Given the description of an element on the screen output the (x, y) to click on. 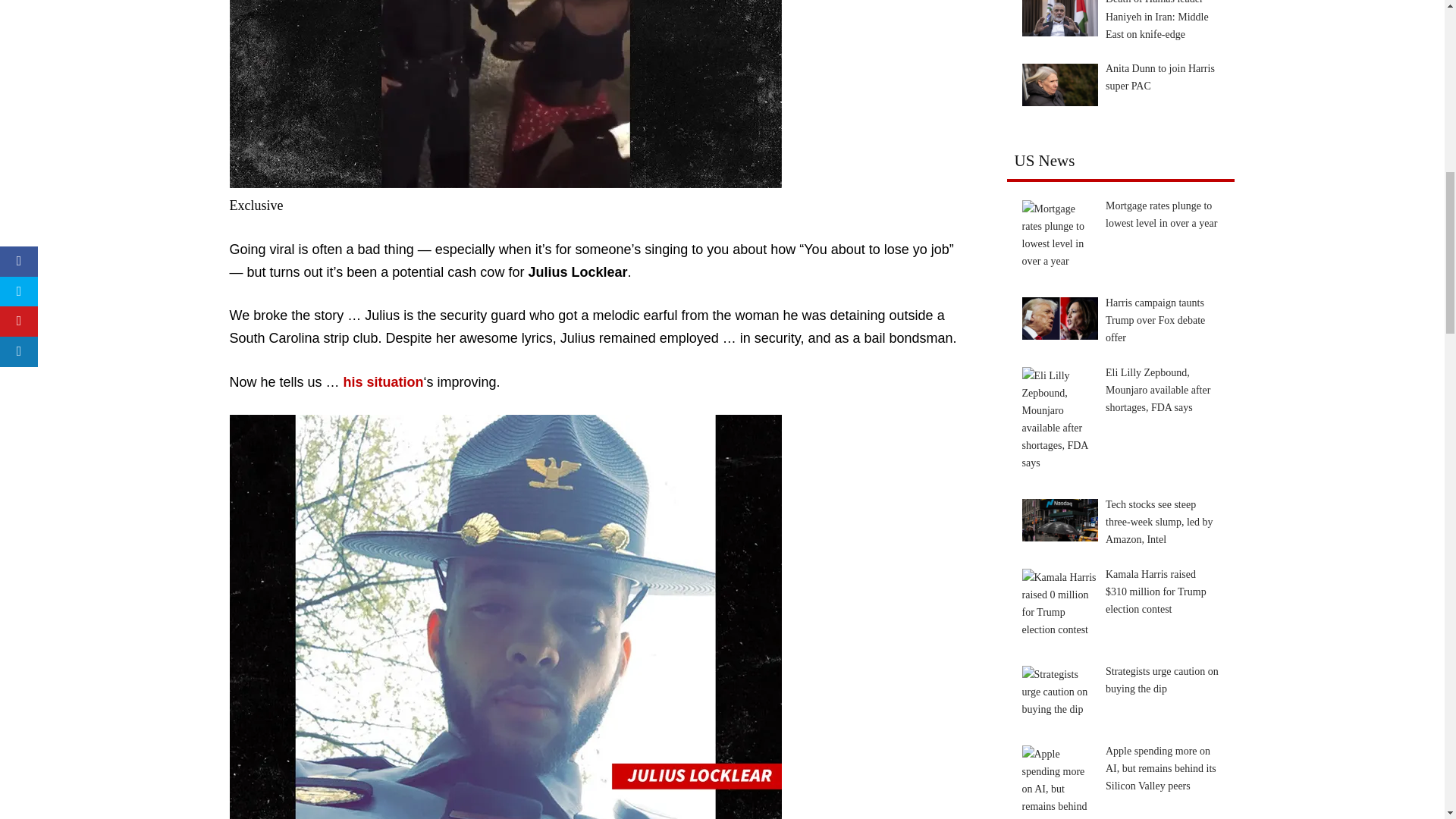
Mortgage rates plunge to lowest level in over a year (1059, 234)
Anita Dunn to join Harris super PAC (1059, 84)
Harris campaign taunts Trump over Fox debate offer (1059, 318)
Tech stocks see steep three-week slump, led by Amazon, Intel (1059, 519)
